Given the description of an element on the screen output the (x, y) to click on. 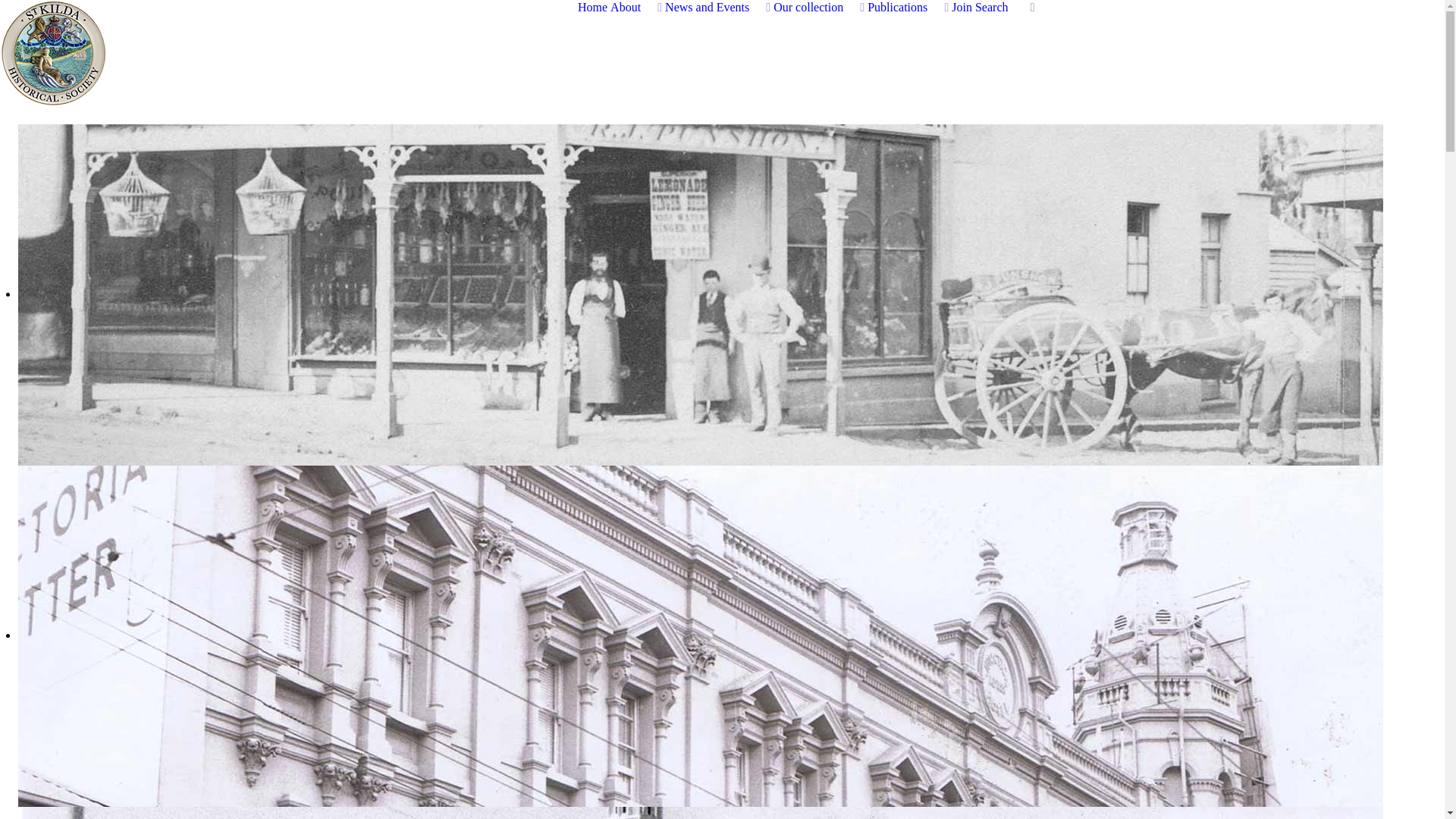
Our collection Element type: text (818, 7)
News and Events Element type: text (717, 7)
Publications Element type: text (907, 7)
Search Element type: text (991, 7)
About Element type: text (636, 7)
Join Element type: text (961, 7)
Home Element type: text (592, 7)
